Given the description of an element on the screen output the (x, y) to click on. 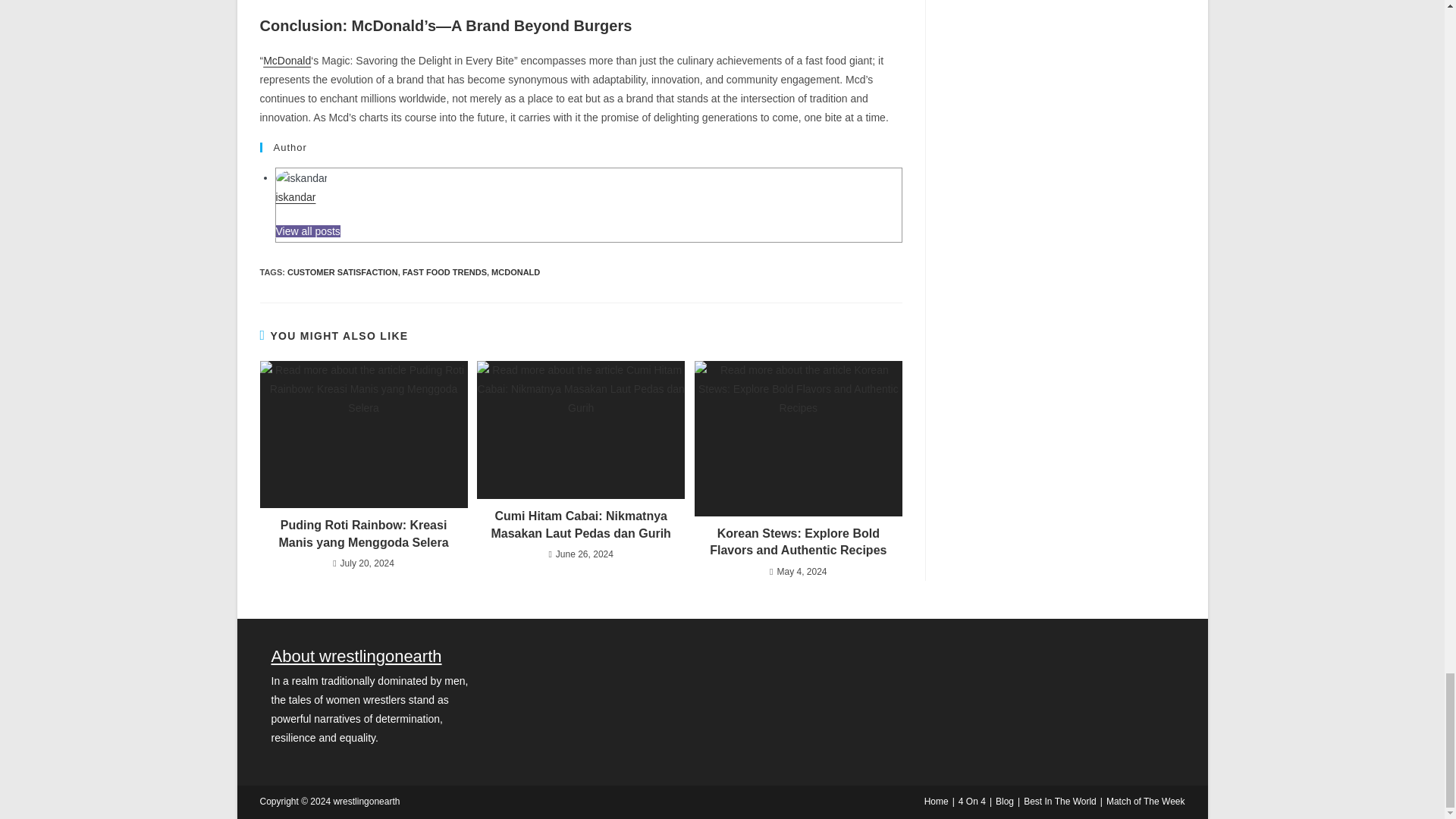
iskandar (295, 196)
View all posts (308, 231)
